Given the description of an element on the screen output the (x, y) to click on. 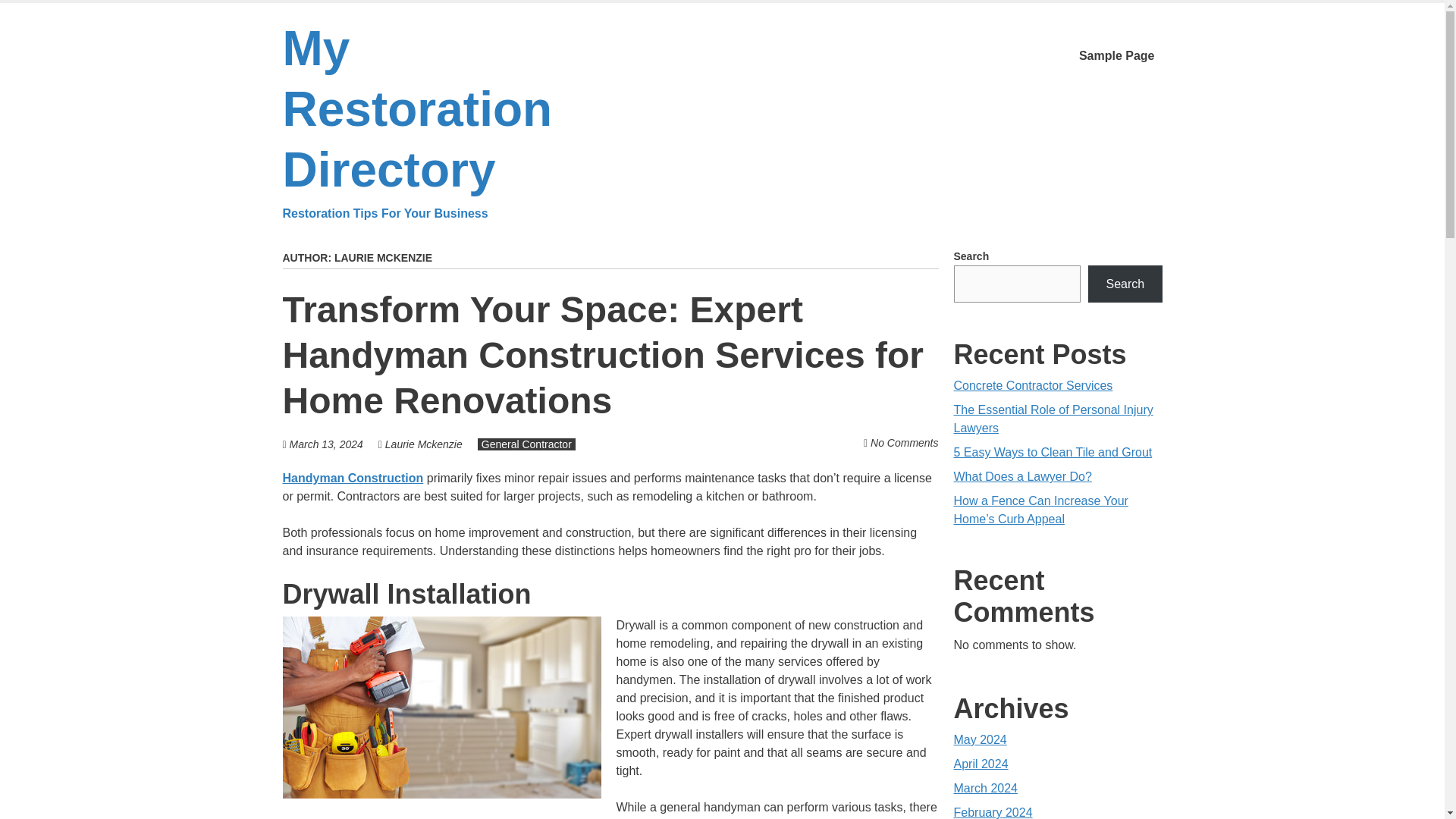
March 13, 2024 (325, 444)
Search (1124, 283)
What Does a Lawyer Do? (1022, 476)
Handyman Construction (352, 477)
April 2024 (981, 763)
The Essential Role of Personal Injury Lawyers (1053, 418)
Laurie Mckenzie (424, 444)
Concrete Contractor Services (1033, 385)
